Given the description of an element on the screen output the (x, y) to click on. 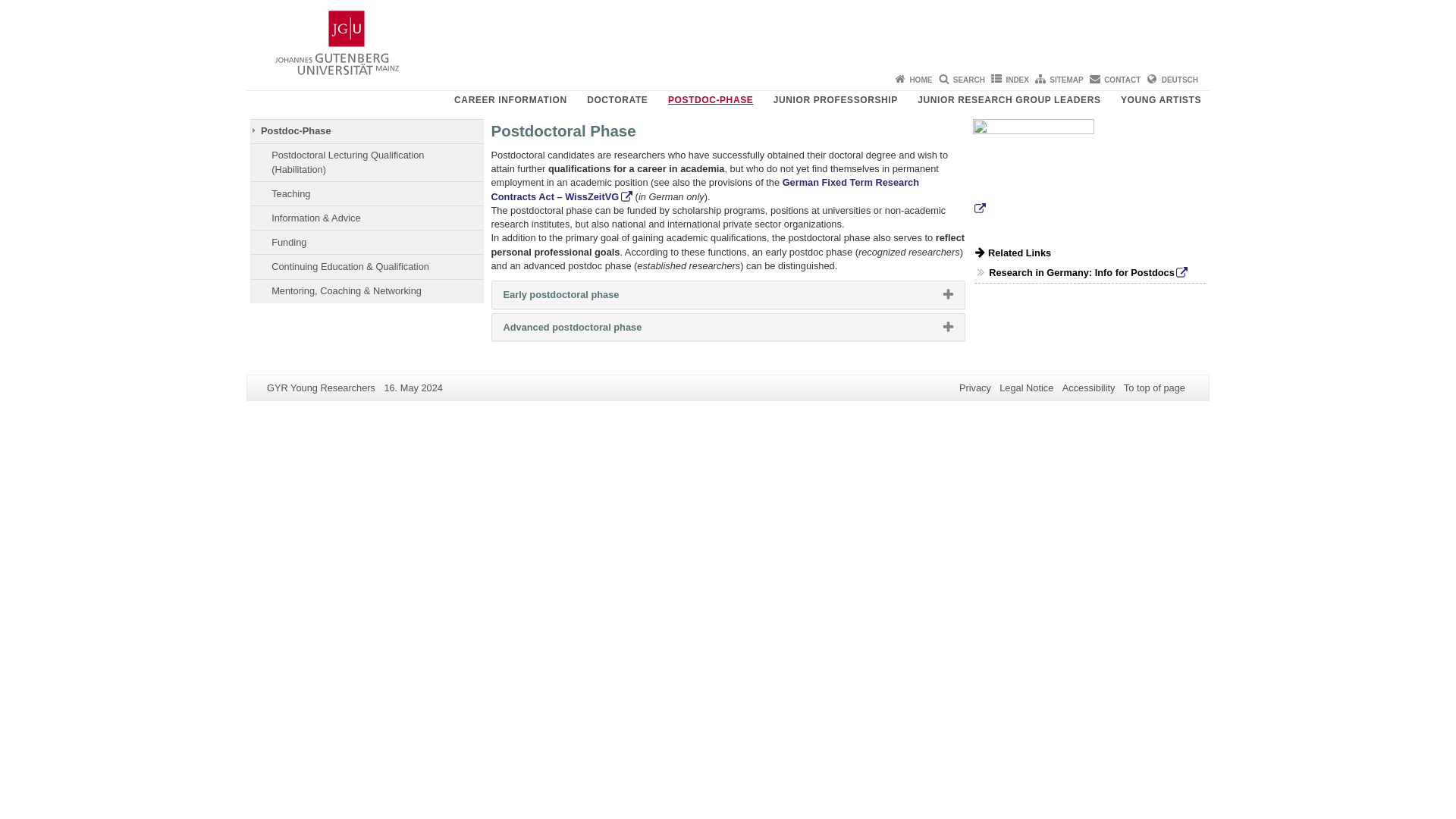
Home (919, 80)
DOCTORATE (617, 99)
CAREER INFORMATION (478, 99)
POSTDOC-PHASE (710, 99)
HOME (919, 80)
JUNIOR PROFESSORSHIP (835, 99)
Johannes Gutenberg University Mainz (336, 42)
